Given the description of an element on the screen output the (x, y) to click on. 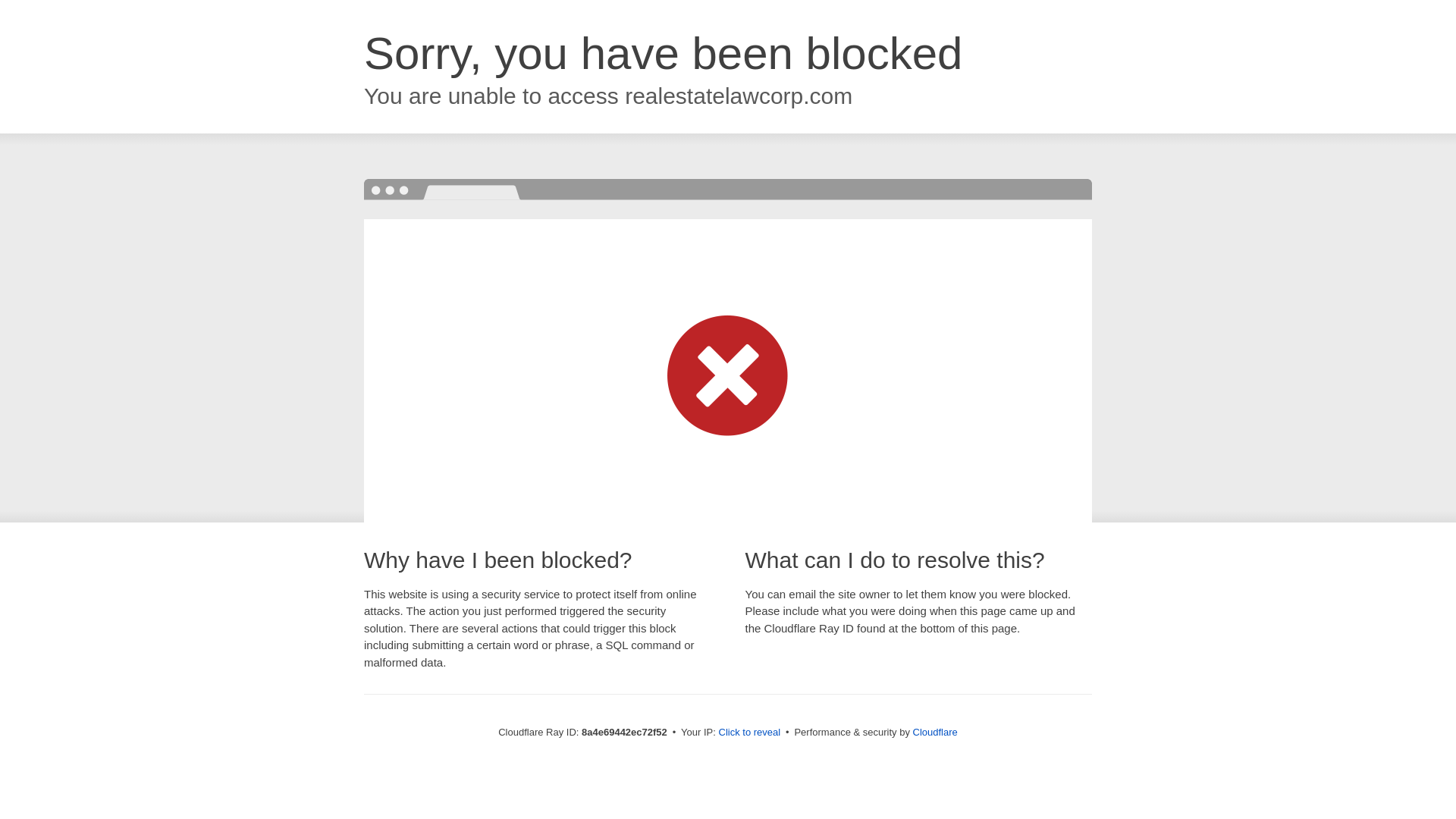
Click to reveal (749, 732)
Cloudflare (935, 731)
